Given the description of an element on the screen output the (x, y) to click on. 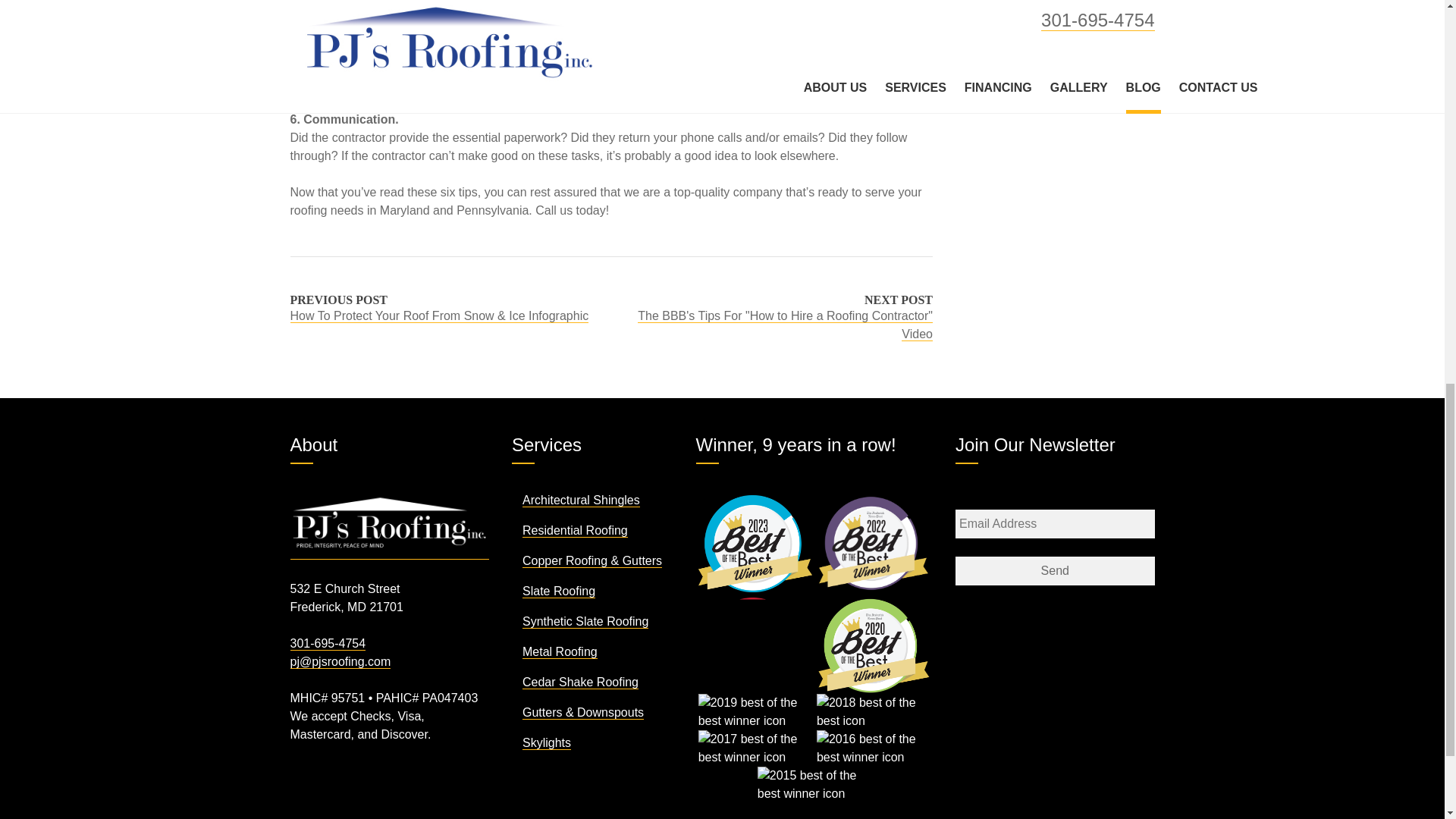
Architectural Shingles (581, 499)
Skylights (546, 743)
The BBB's Tips For "How to Hire a Roofing Contractor" Video (785, 325)
Slate Roofing (558, 591)
Residential Roofing (574, 530)
Cedar Shake Roofing (580, 682)
Send (1054, 570)
Send (1054, 570)
Metal Roofing (559, 652)
Synthetic Slate Roofing (584, 621)
